Given the description of an element on the screen output the (x, y) to click on. 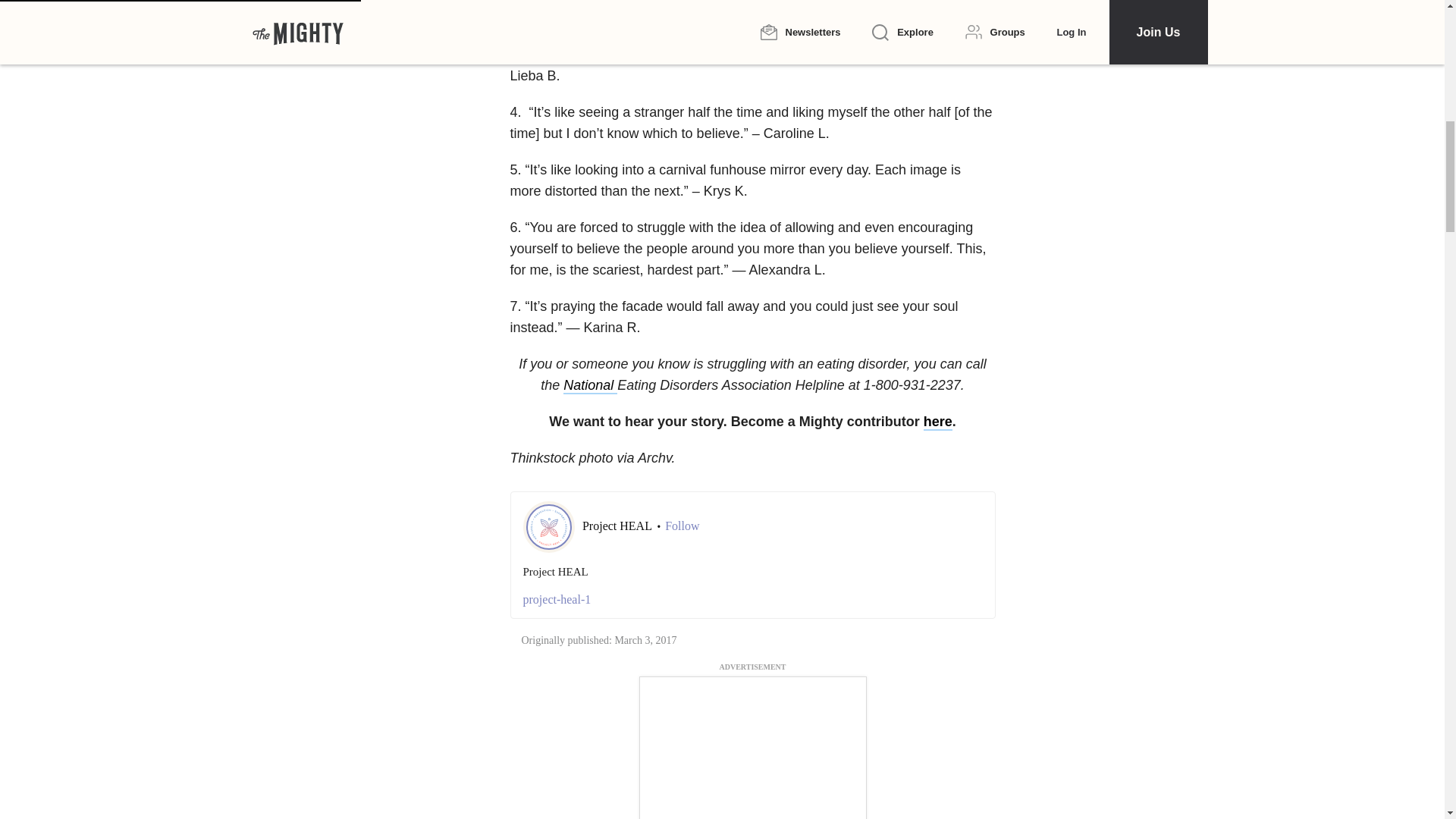
here (937, 422)
Follow (681, 525)
project-heal-1 (752, 599)
Project HEAL (617, 525)
National (590, 385)
